Given the description of an element on the screen output the (x, y) to click on. 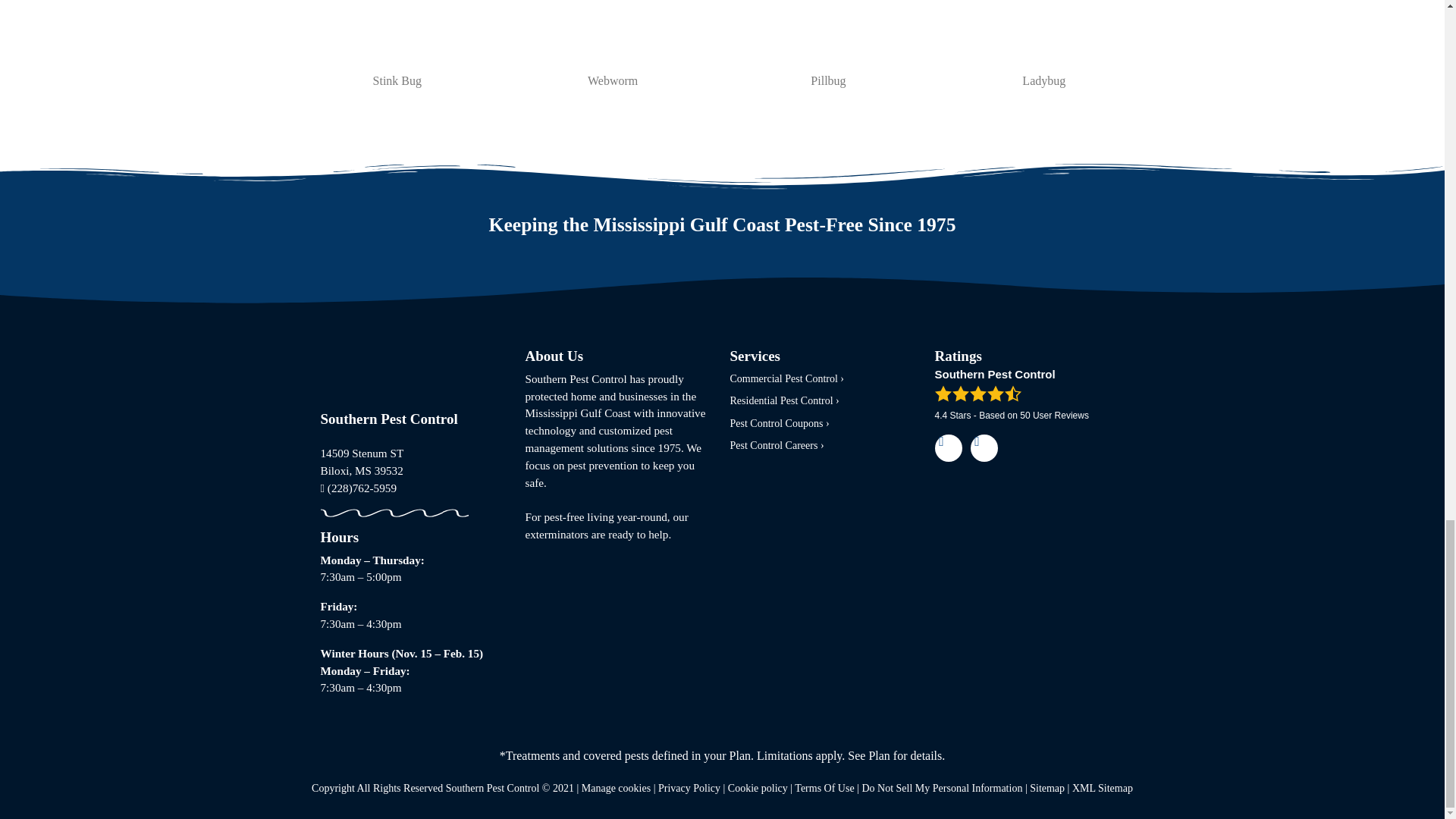
Southern-Pest-Logo (395, 376)
